Given the description of an element on the screen output the (x, y) to click on. 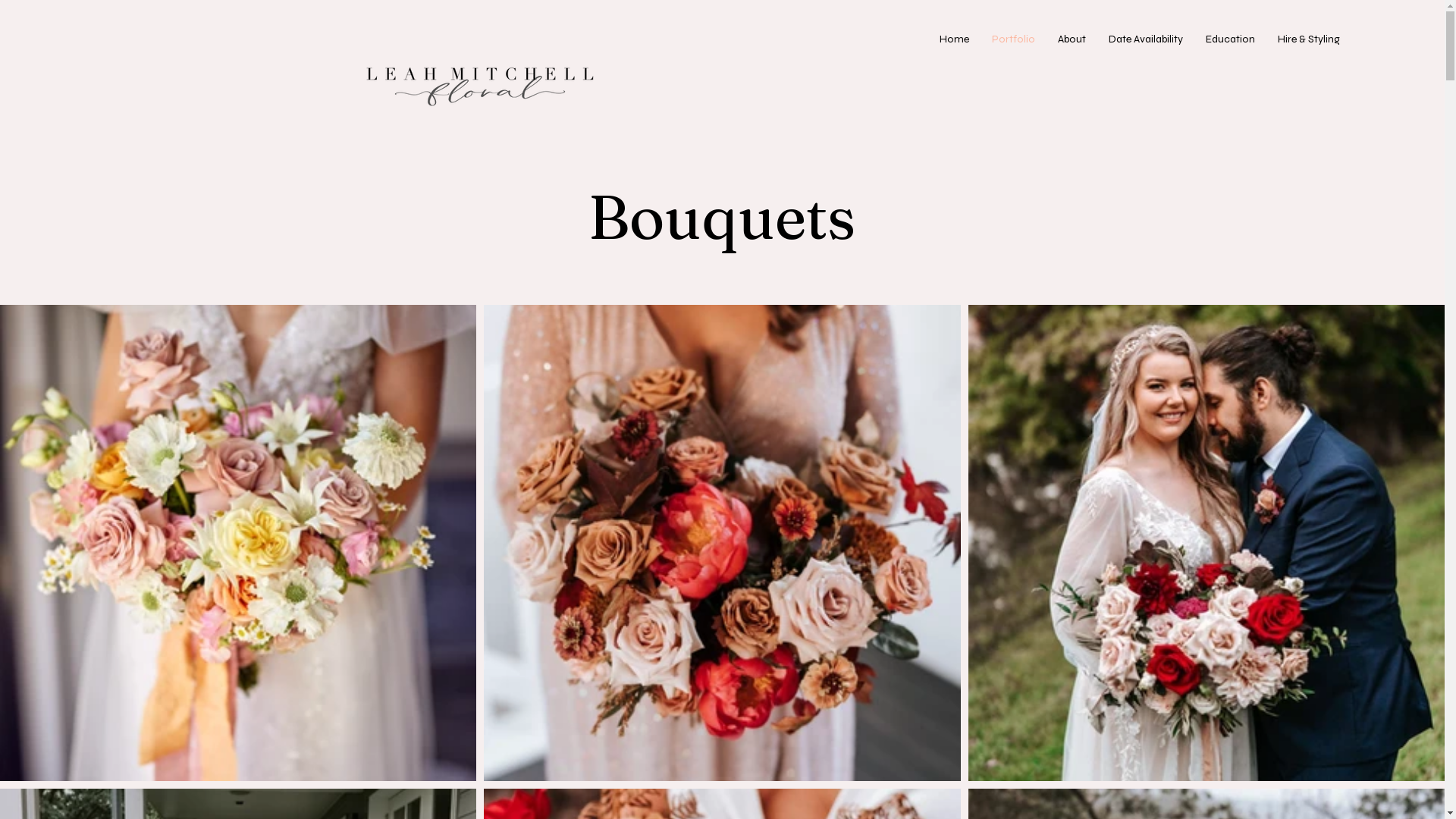
Date Availability Element type: text (1145, 39)
Home Element type: text (954, 39)
Education Element type: text (1230, 39)
Portfolio Element type: text (1013, 39)
About Element type: text (1071, 39)
Hire & Styling Element type: text (1308, 39)
